Given the description of an element on the screen output the (x, y) to click on. 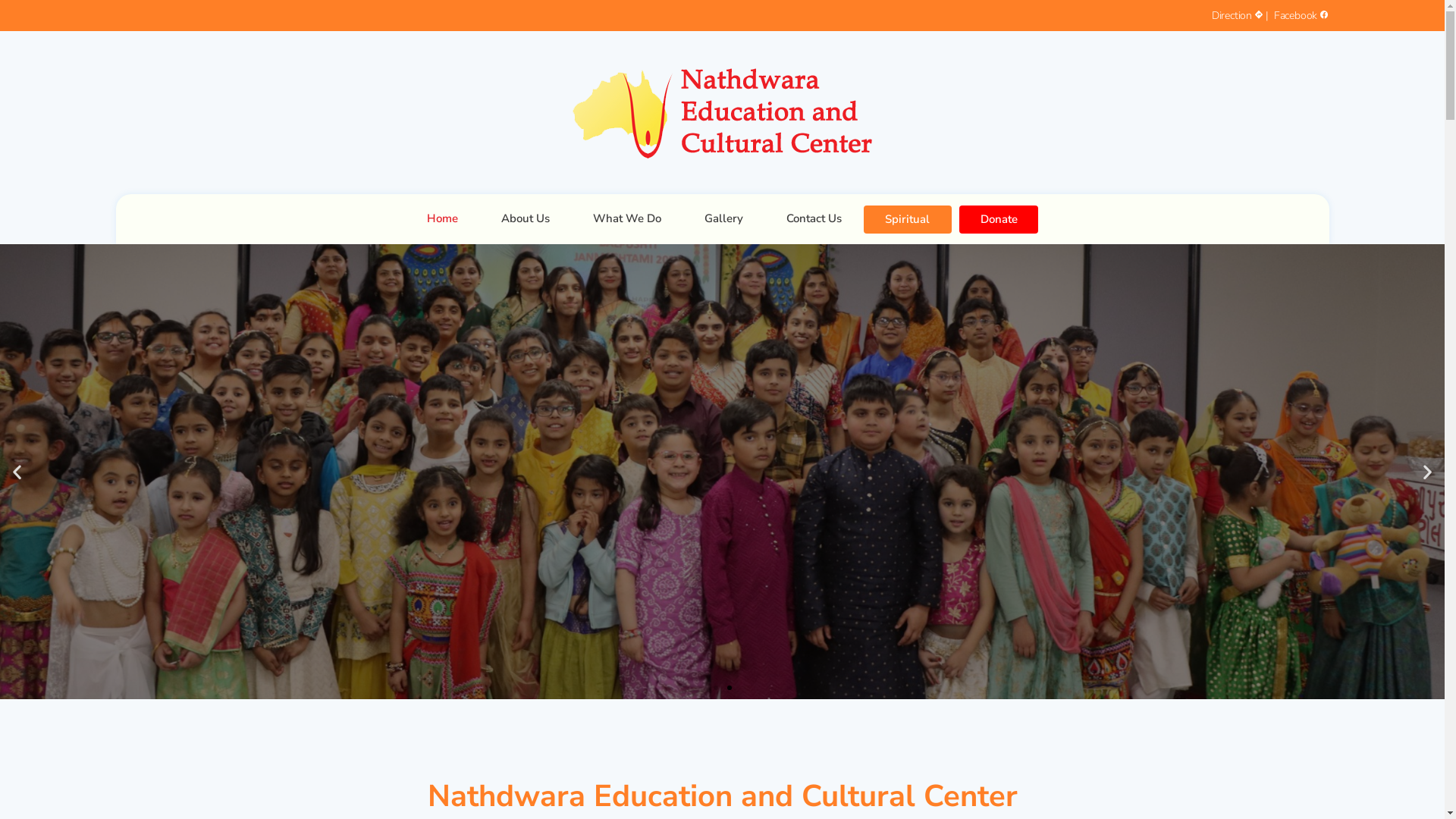
What We Do Element type: text (626, 218)
Contact Us Element type: text (813, 218)
Direction Element type: text (1238, 15)
Spiritual Element type: text (907, 219)
About Us Element type: text (525, 218)
Facebook Element type: text (1299, 15)
Donate Element type: text (999, 219)
Home Element type: text (442, 218)
Gallery Element type: text (723, 218)
